Given the description of an element on the screen output the (x, y) to click on. 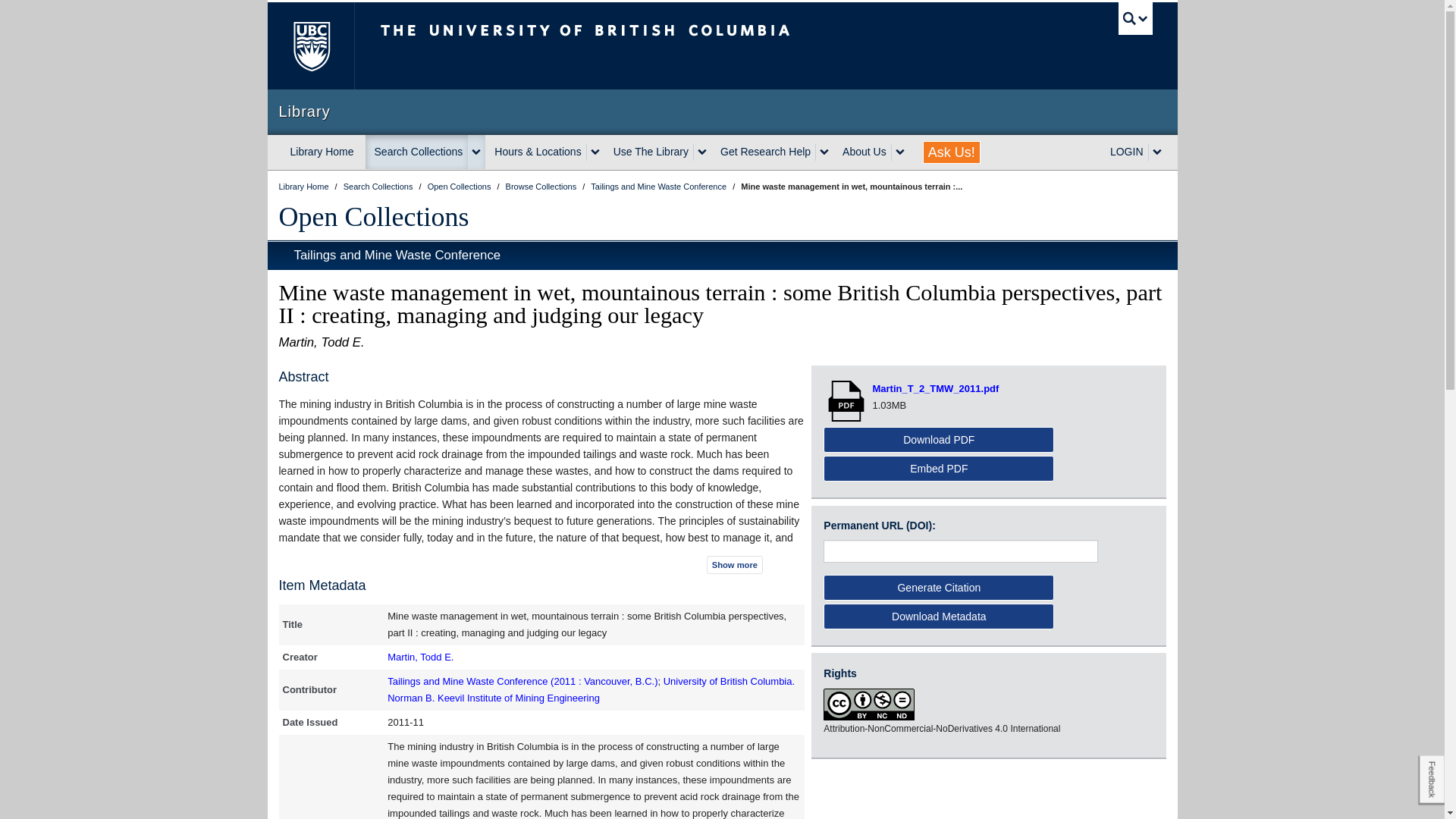
Open Collections (460, 185)
Browse Collections (542, 185)
The University of British Columbia (309, 45)
The University of British Columbia (635, 45)
UBC Search (1135, 18)
Open Collections (373, 216)
Library Home (322, 151)
UBC Library (305, 185)
Library (722, 111)
Tailings and Mine Waste Conference (660, 185)
Search Collections (416, 151)
Search Collections (378, 185)
open file (848, 401)
